Given the description of an element on the screen output the (x, y) to click on. 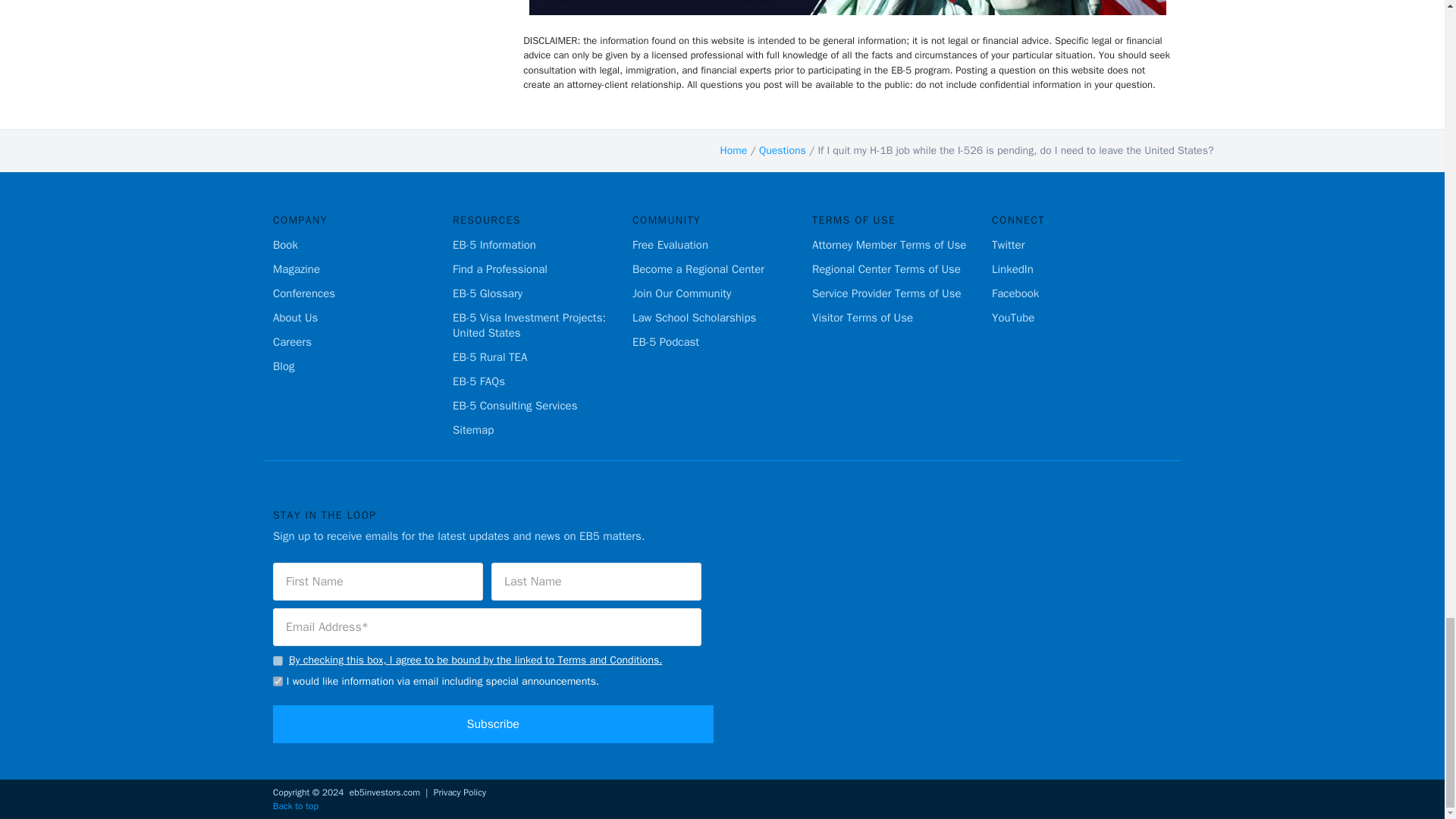
Subscribe (493, 723)
1 (277, 660)
